Given the description of an element on the screen output the (x, y) to click on. 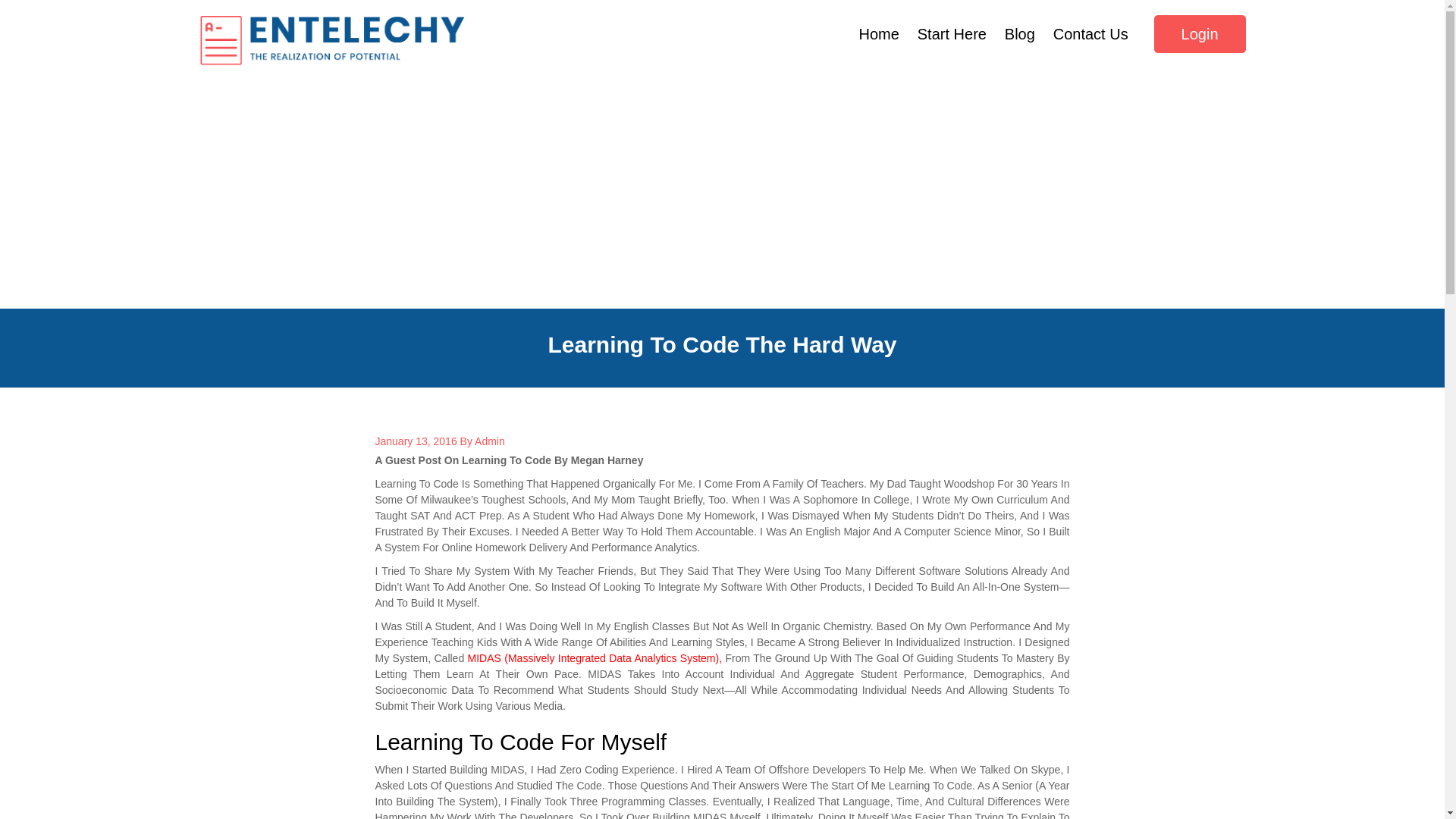
Admin (489, 440)
January 13, 2016 (415, 440)
Contact Us (1090, 34)
Blog (1019, 34)
Start Here (952, 34)
Home (879, 34)
Login (1200, 34)
